Given the description of an element on the screen output the (x, y) to click on. 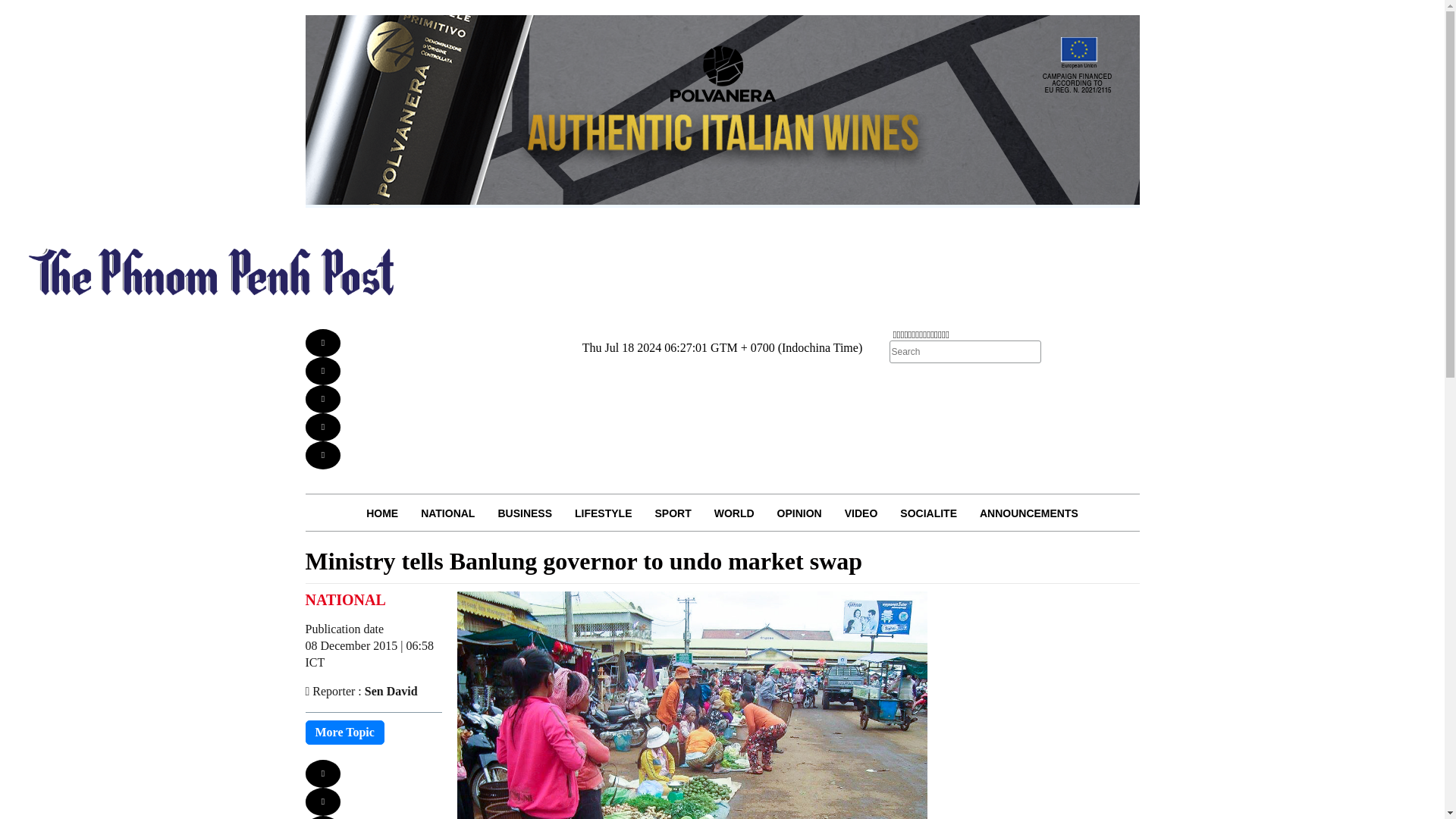
ANNOUNCEMENTS (1028, 512)
NATIONAL (447, 512)
OPINION (798, 512)
HOME (382, 512)
More Topic (344, 732)
WORLD (734, 512)
SOCIALITE (928, 512)
VIDEO (860, 512)
LIFESTYLE (603, 512)
SPORT (672, 512)
BUSINESS (524, 512)
